Given the description of an element on the screen output the (x, y) to click on. 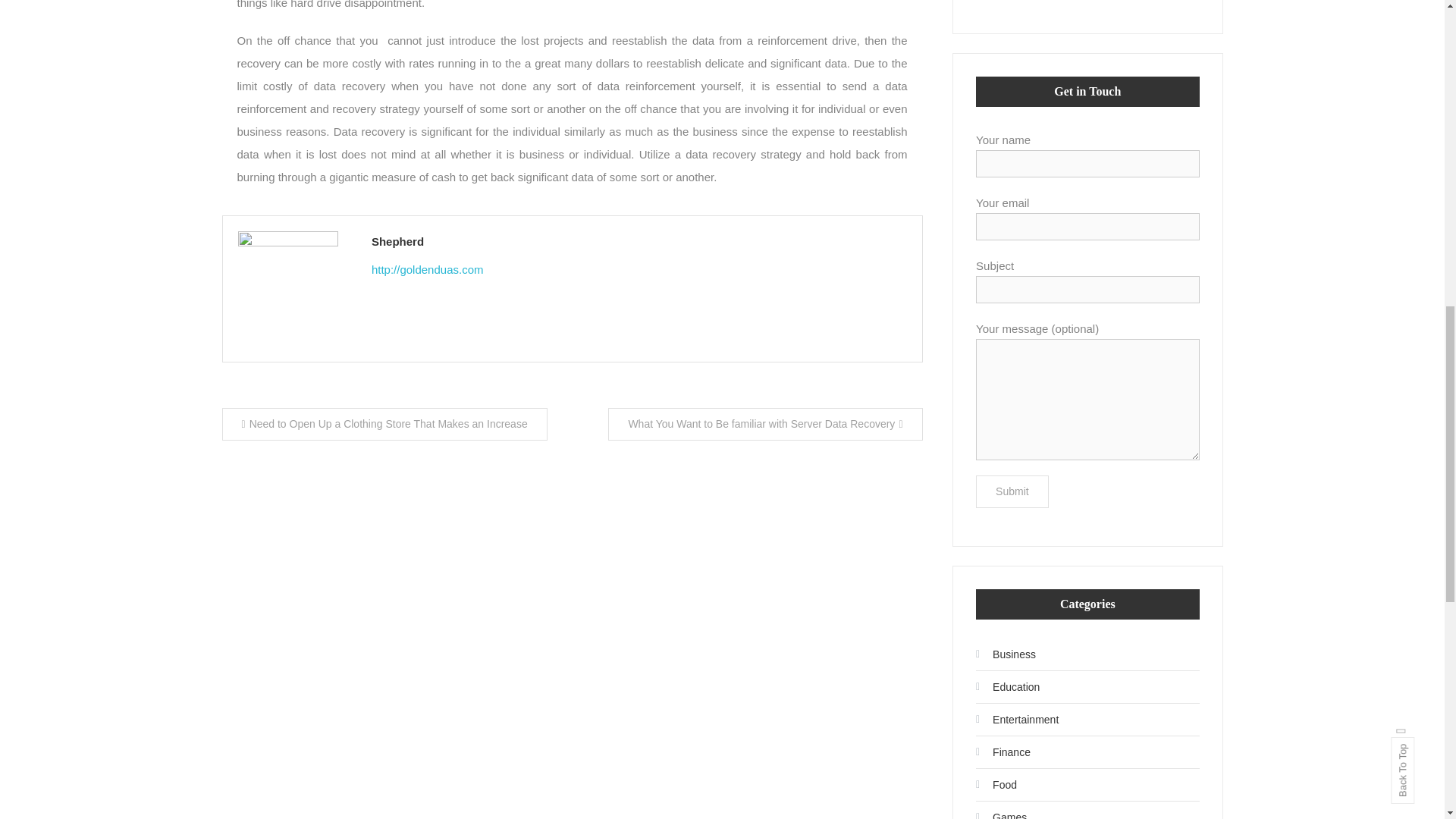
Submit (1011, 491)
Shepherd (639, 240)
Food (995, 784)
What You Want to Be familiar with Server Data Recovery (764, 423)
Games (1000, 812)
Education (1007, 686)
Submit (1011, 491)
Entertainment (1016, 719)
Need to Open Up a Clothing Store That Makes an Increase (384, 423)
Finance (1002, 752)
Business (1005, 654)
